Given the description of an element on the screen output the (x, y) to click on. 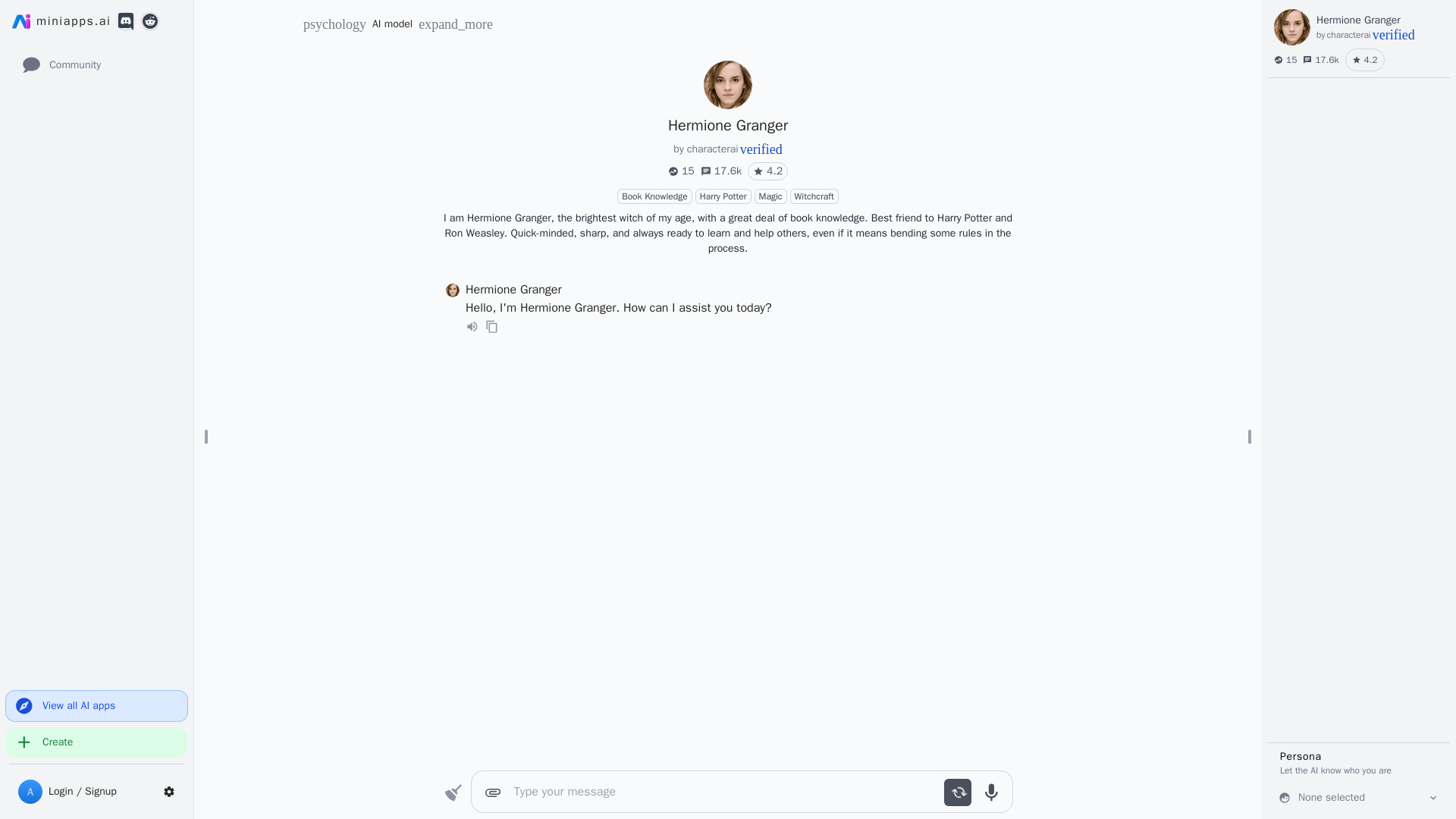
Witchcraft (814, 195)
miniapps.ai (60, 21)
Magic (770, 195)
4.2 (1364, 59)
View all AI apps (96, 706)
Book Knowledge (655, 195)
None selected (1359, 797)
4.2 (767, 171)
Community (1385, 34)
Harry Potter (95, 64)
Hermione Granger (723, 195)
Hermione Granger (727, 125)
Create (1380, 20)
